Given the description of an element on the screen output the (x, y) to click on. 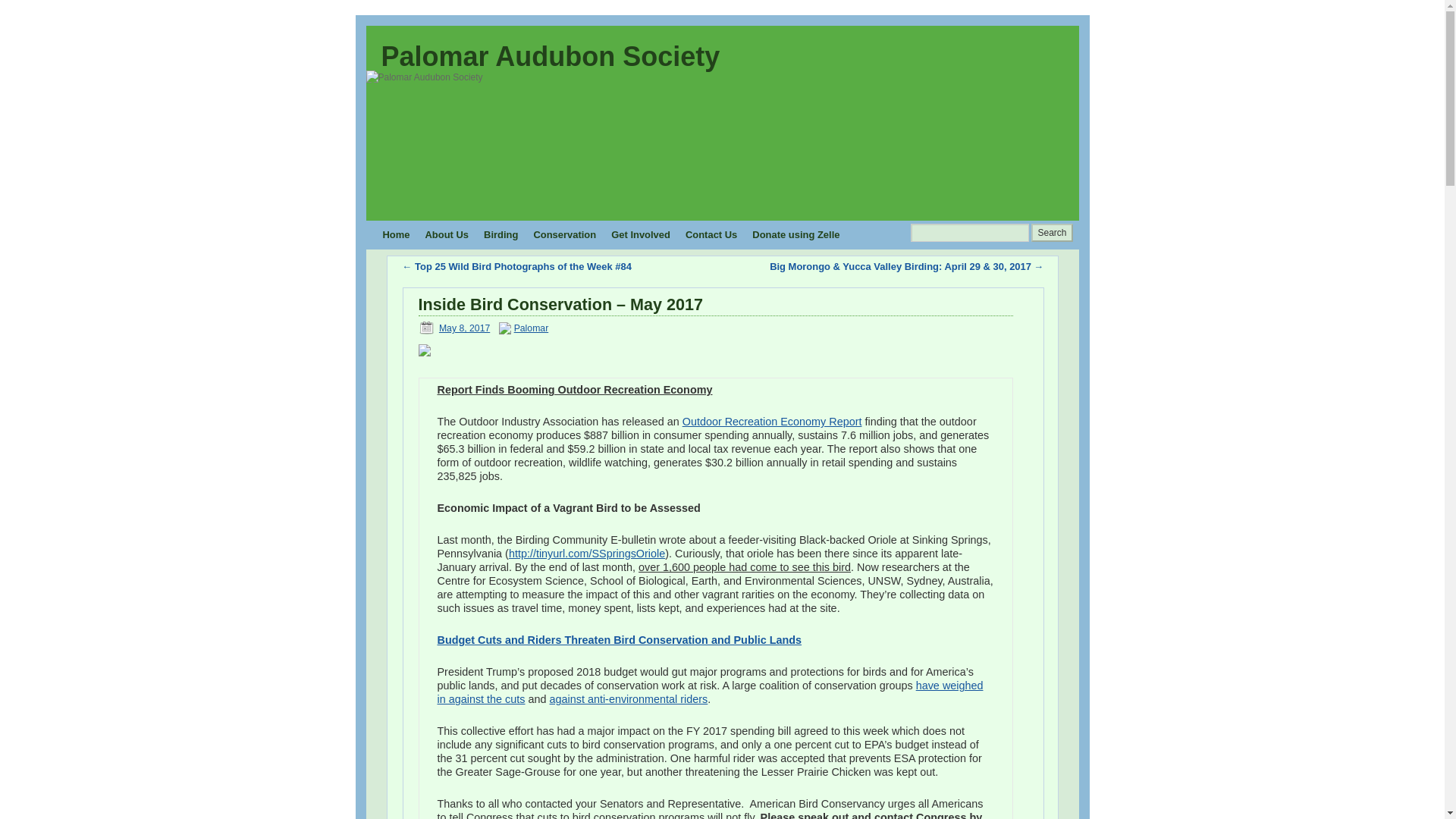
Get Involved (641, 234)
Palomar Audubon Society (549, 56)
Donate using Zelle (795, 234)
Birding (500, 234)
Welcome (395, 234)
Conservation (564, 234)
Search (1050, 232)
Home (395, 234)
Outdoor Recreation Economy Report (771, 421)
About Us (446, 234)
have weighed in against the cuts (709, 692)
against anti-environmental riders (628, 698)
Palomar (530, 327)
Search (1050, 232)
